Given the description of an element on the screen output the (x, y) to click on. 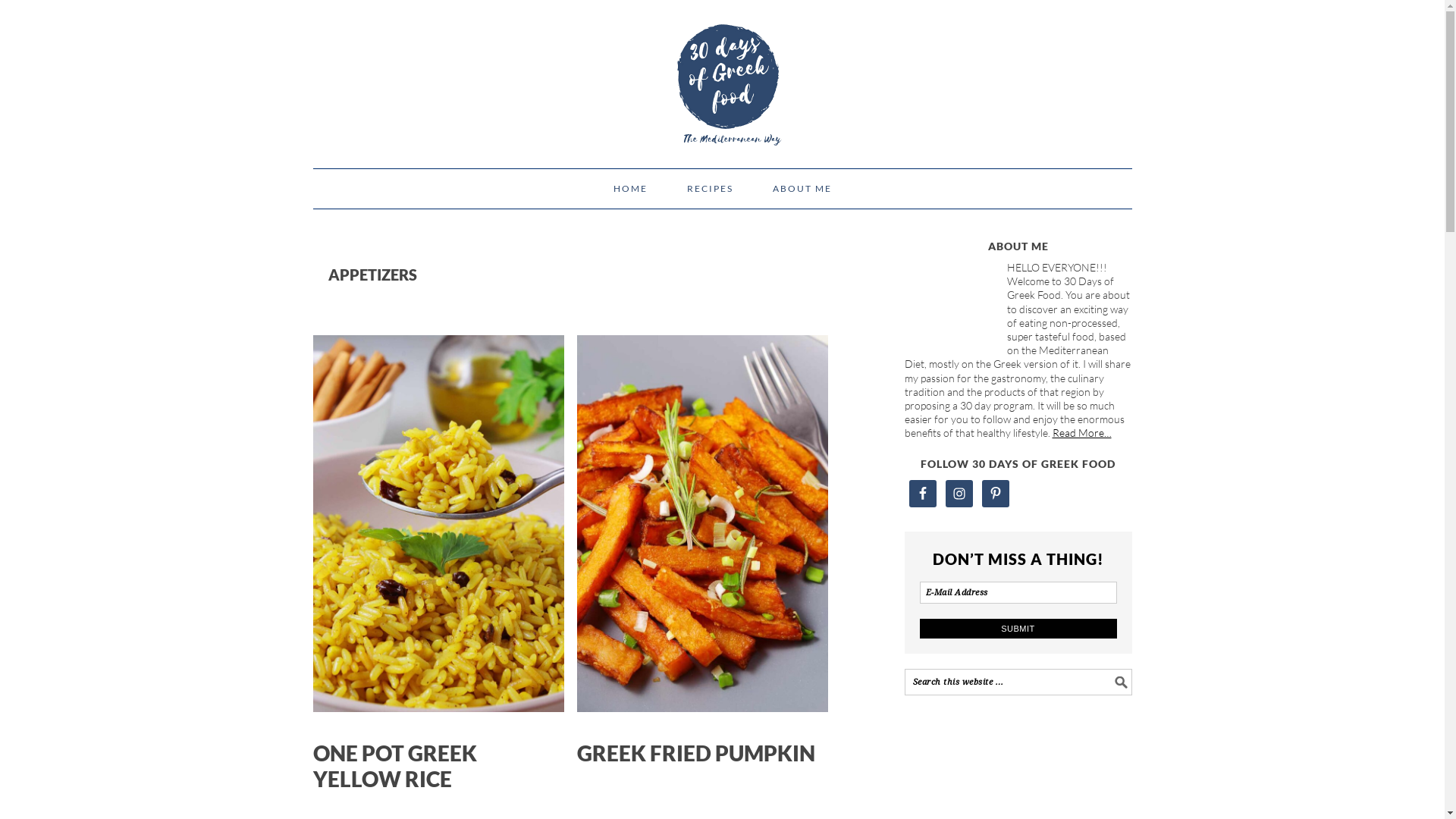
ONE POT GREEK YELLOW RICE Element type: text (394, 765)
GREEK FRIED PUMPKIN Element type: text (696, 752)
RECIPES Element type: text (709, 188)
Submit Element type: text (1017, 628)
Skip to primary navigation Element type: text (312, 0)
Search Element type: text (1131, 668)
HOME Element type: text (630, 188)
ABOUT ME Element type: text (801, 188)
30 DAYS OF GREEK FOOD Element type: text (721, 77)
